Given the description of an element on the screen output the (x, y) to click on. 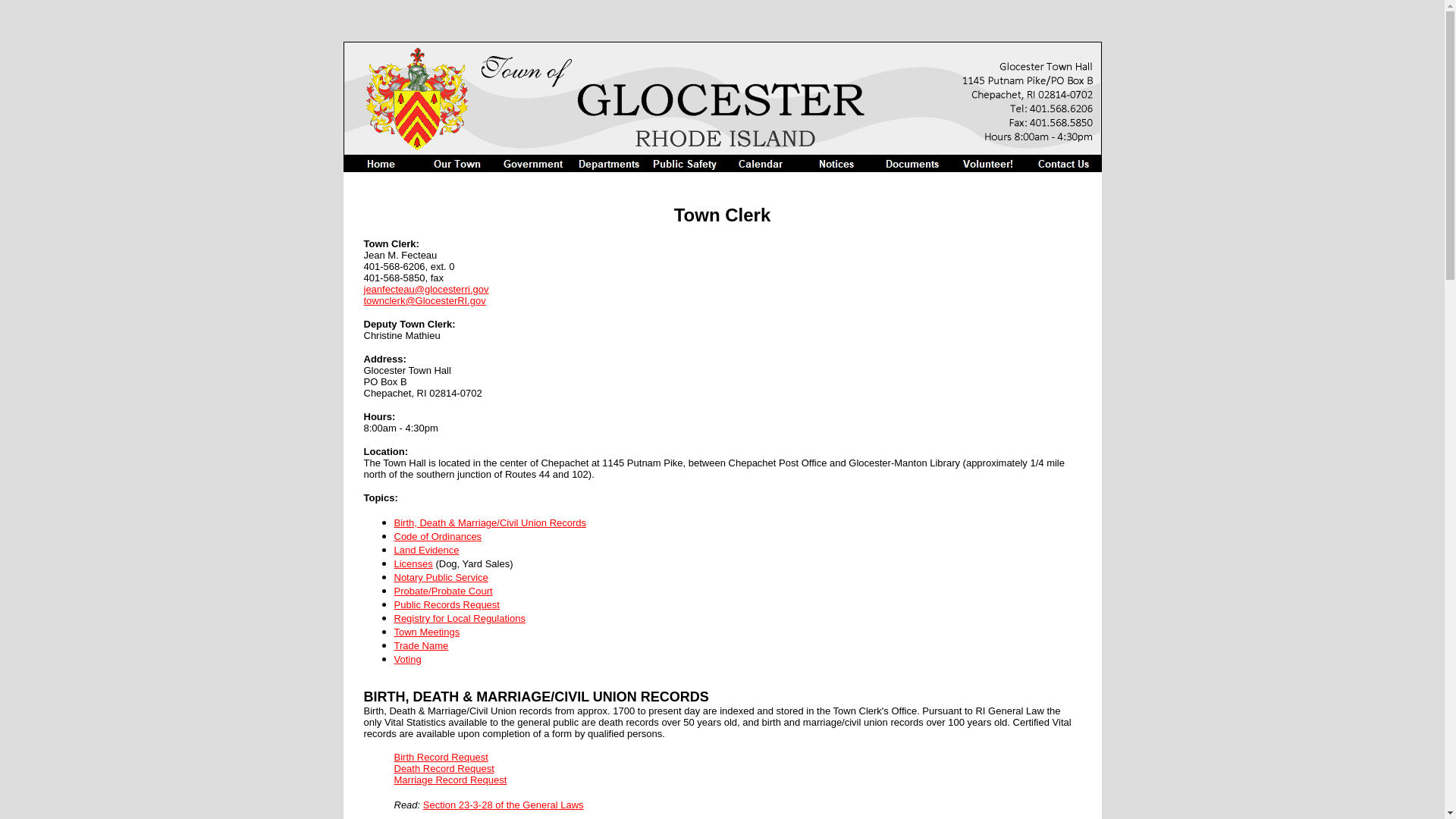
Code of Ordinances (437, 535)
Public Records Request (446, 603)
Trade Name (421, 644)
Contact Us (1062, 163)
Calendar (759, 163)
Documents (911, 163)
Marriage Record Request (450, 779)
Notary Public Service (440, 576)
Death Record Request (444, 767)
Notices (835, 163)
Home (380, 163)
Our Town (457, 163)
Land Evidence (427, 549)
Birth Record Request (440, 756)
Voting (408, 658)
